Given the description of an element on the screen output the (x, y) to click on. 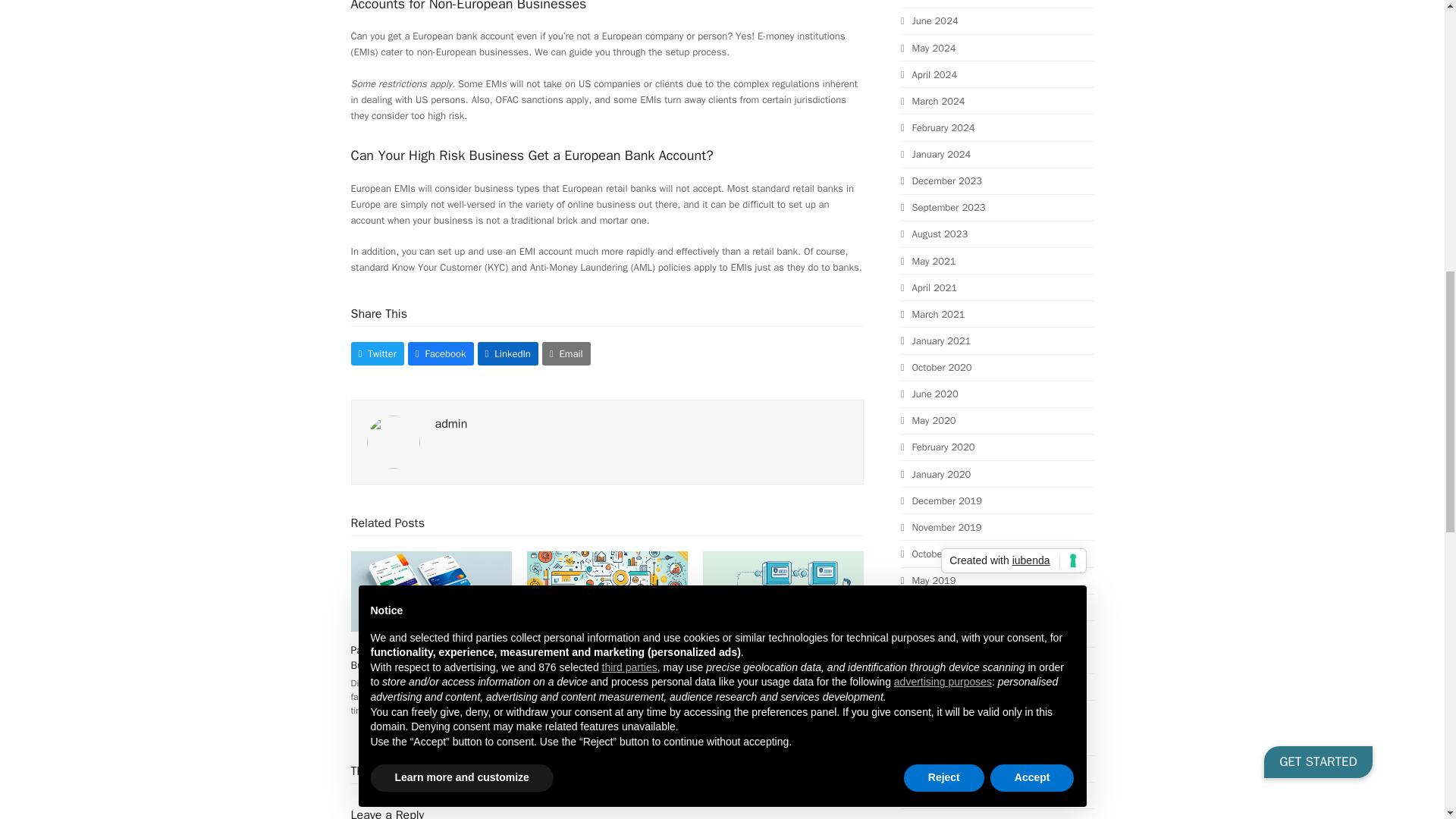
Understanding Chargeback Reason Codes (607, 591)
Payment Facilitator: Simplify Your Business Payments (430, 591)
Delayed Capture Payments: A Guide to Secure Transactions (783, 591)
